Given the description of an element on the screen output the (x, y) to click on. 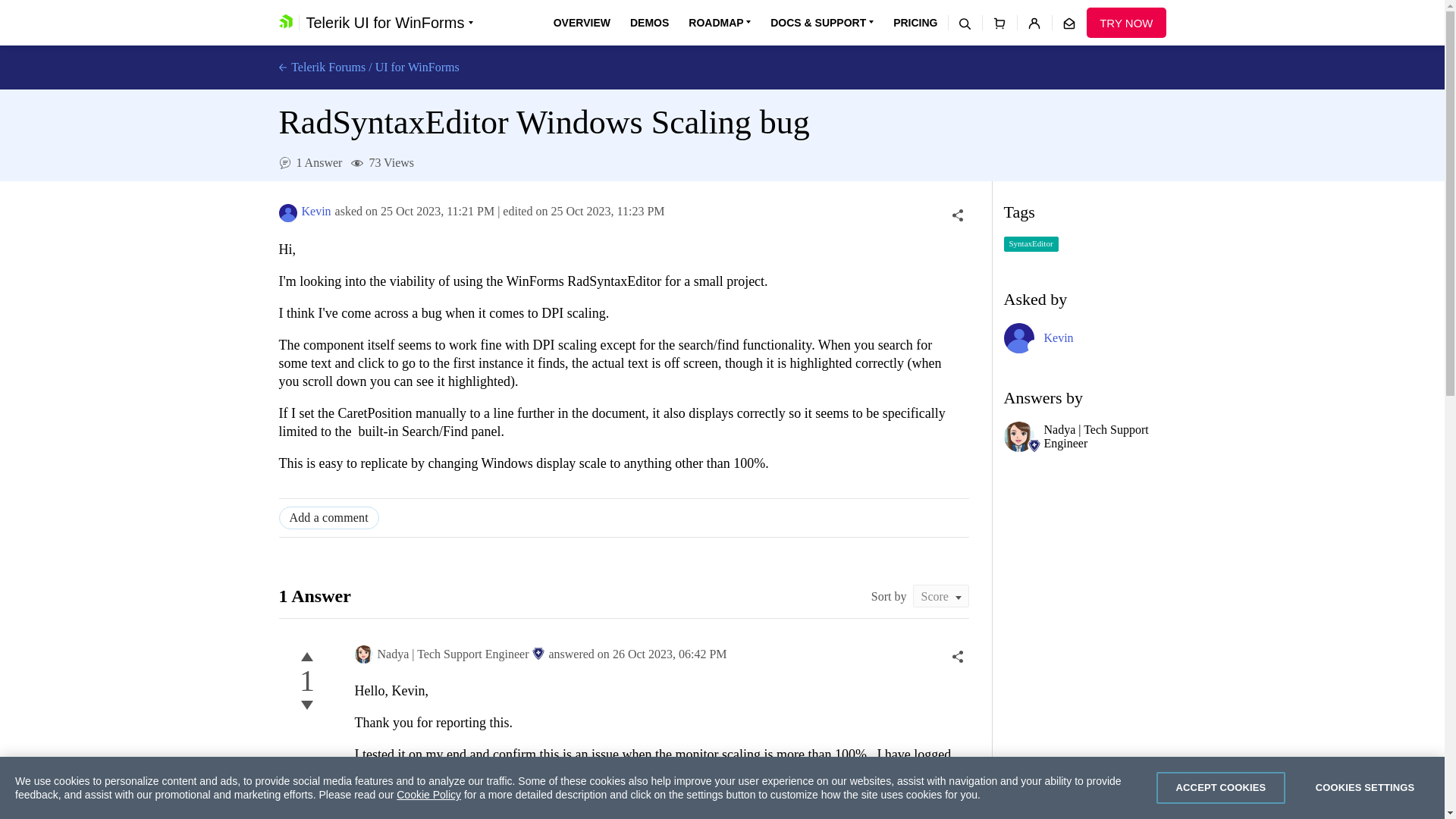
Telerik UI for WinForms (389, 22)
This answer is not helpful. (306, 704)
SKIP NAVIGATION (339, 7)
ROADMAP (719, 22)
OVERVIEW (581, 22)
SyntaxEditor (1031, 243)
This answer is helpful. (306, 656)
